Given the description of an element on the screen output the (x, y) to click on. 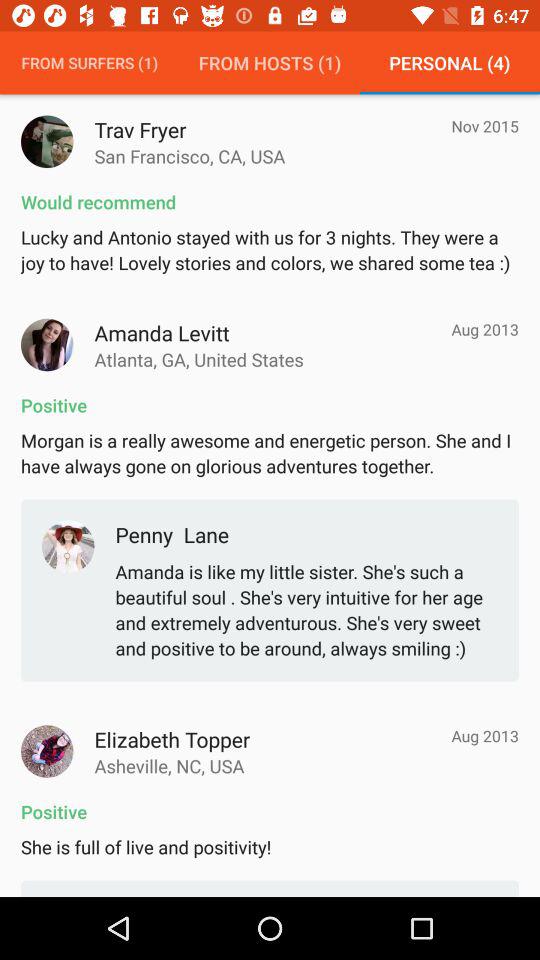
view profile (47, 141)
